Given the description of an element on the screen output the (x, y) to click on. 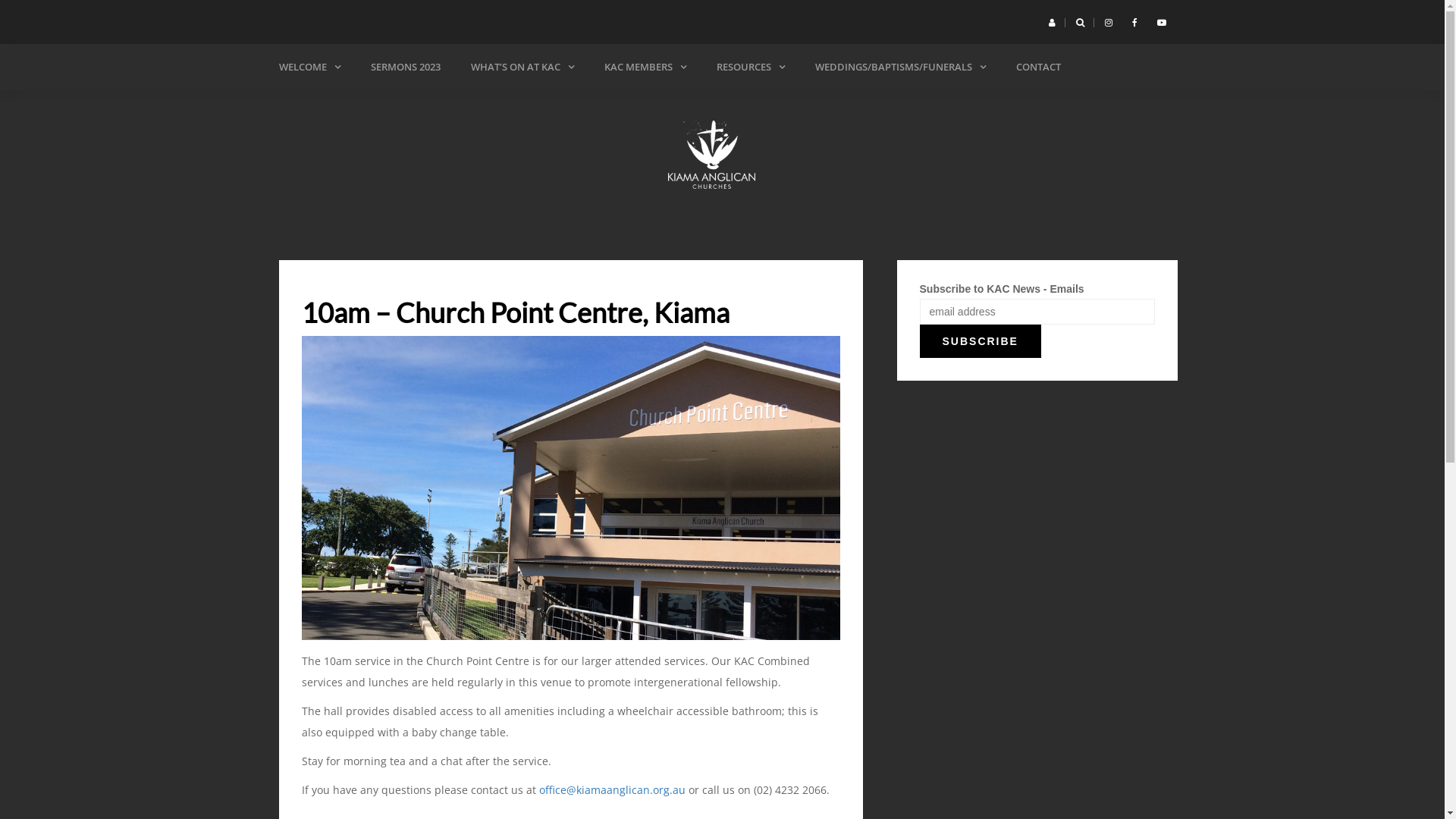
2023 Sermon Notes Element type: text (984, 105)
Sermons 2023 Element type: text (802, 105)
RESOURCES Element type: text (749, 66)
SERMONS 2023 Element type: text (404, 66)
2023 Element type: text (872, 105)
WELCOME Element type: text (309, 66)
Sundays Element type: text (557, 105)
WEDDINGS/BAPTISMS/FUNERALS Element type: text (899, 66)
Who we are and what we believe Element type: text (365, 105)
KAC MEMBERS Element type: text (644, 66)
Table for 8 Element type: text (690, 105)
office@kiamaanglican.org.au Element type: text (611, 789)
CONTACT Element type: text (1038, 66)
Subscribe Element type: text (979, 340)
Weddings Element type: text (901, 105)
